Given the description of an element on the screen output the (x, y) to click on. 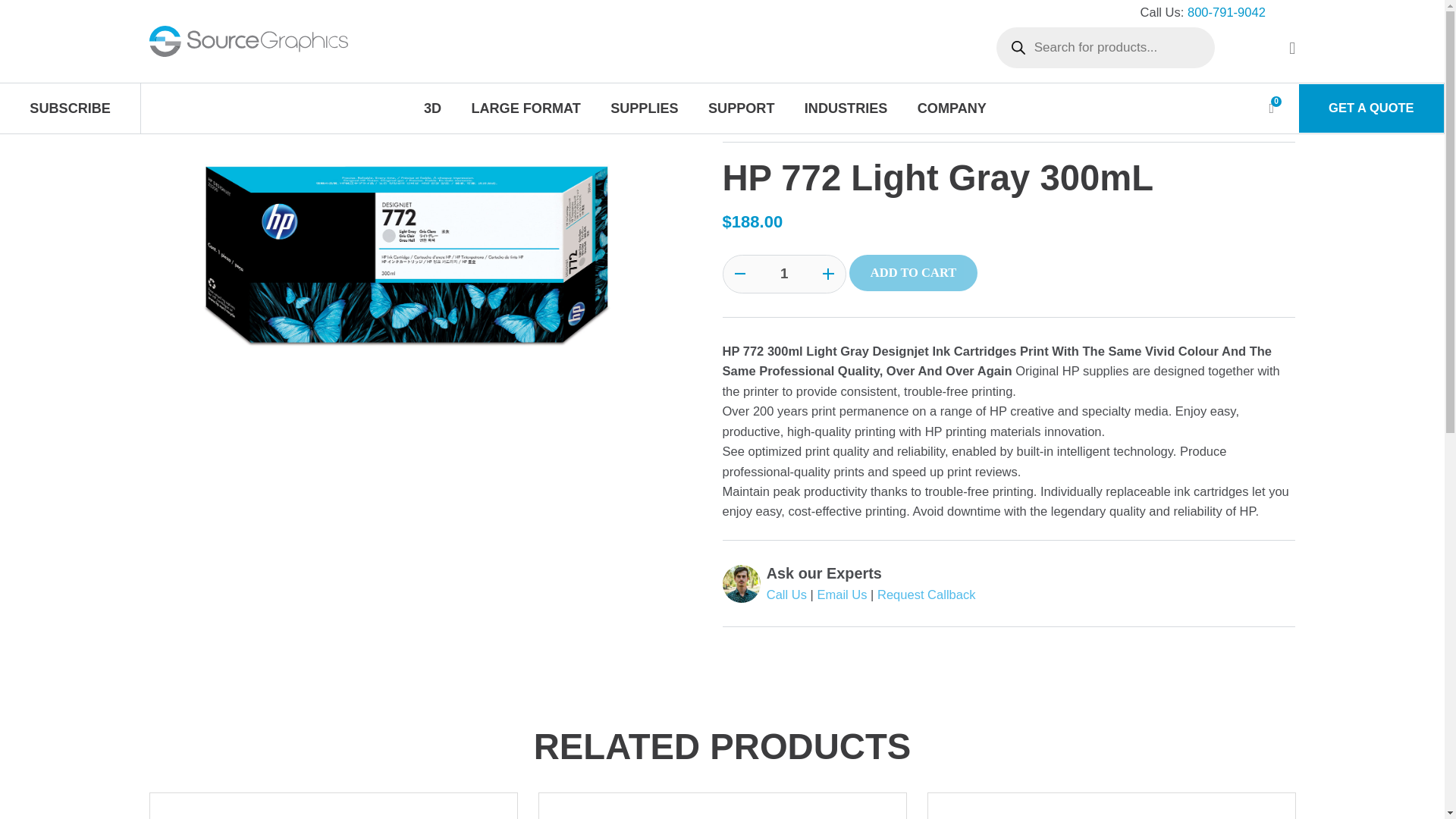
3D (432, 107)
SUBSCRIBE (69, 107)
Login (1181, 255)
1 (784, 273)
Qty (784, 273)
800-791-9042 (1226, 11)
